Given the description of an element on the screen output the (x, y) to click on. 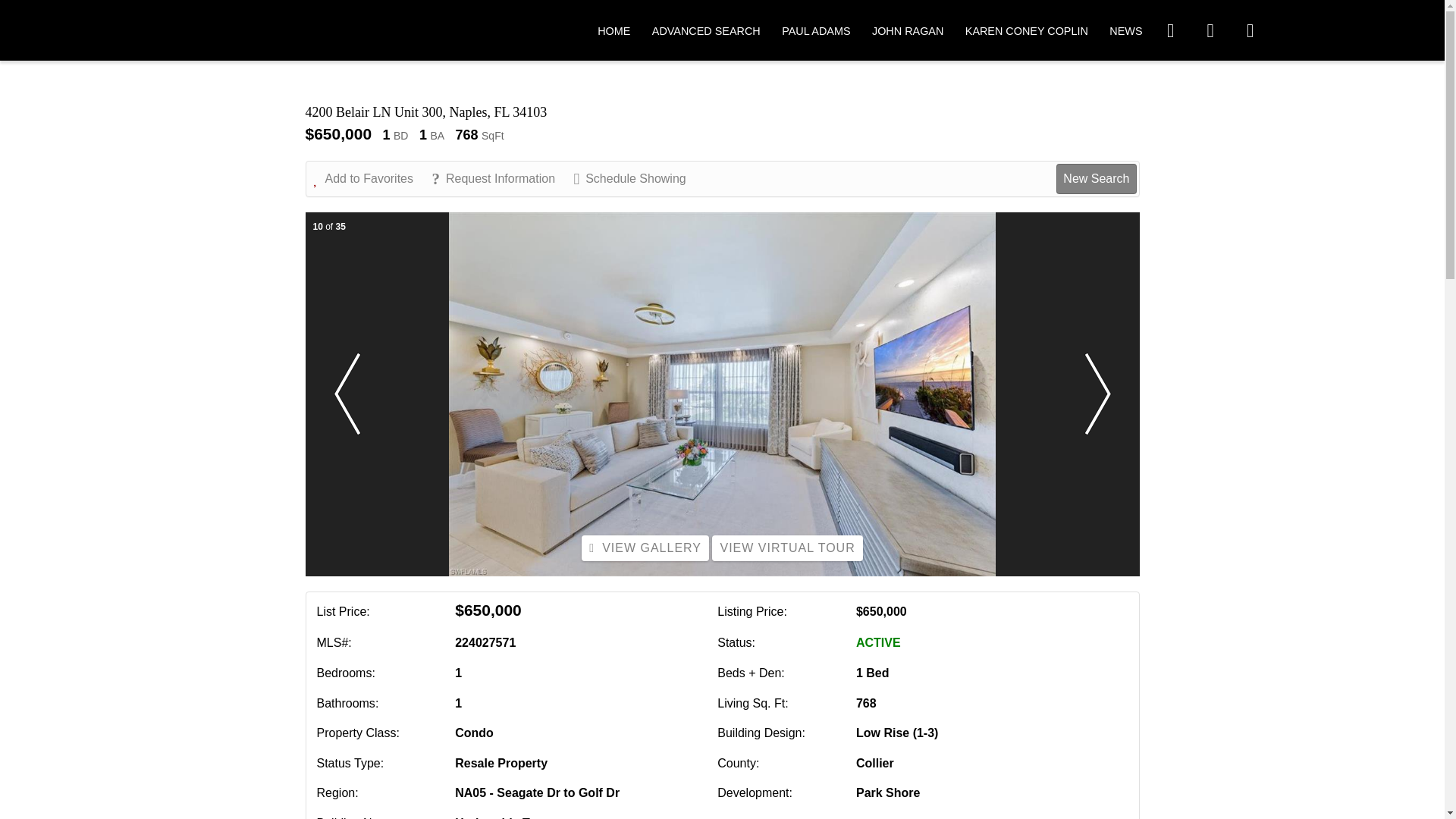
Schedule Showing (636, 178)
HOME (613, 30)
VIEW VIRTUAL TOUR (786, 548)
VIEW GALLERY (644, 548)
New Search (1096, 178)
PAUL ADAMS (815, 30)
ADVANCED SEARCH (706, 30)
NEWS (1125, 30)
JOHN RAGAN (907, 30)
VIEW GALLERY (644, 547)
KAREN CONEY COPLIN (1026, 30)
Add to Favorites (371, 178)
VIEW VIRTUAL TOUR (786, 547)
Request Information (500, 178)
